Given the description of an element on the screen output the (x, y) to click on. 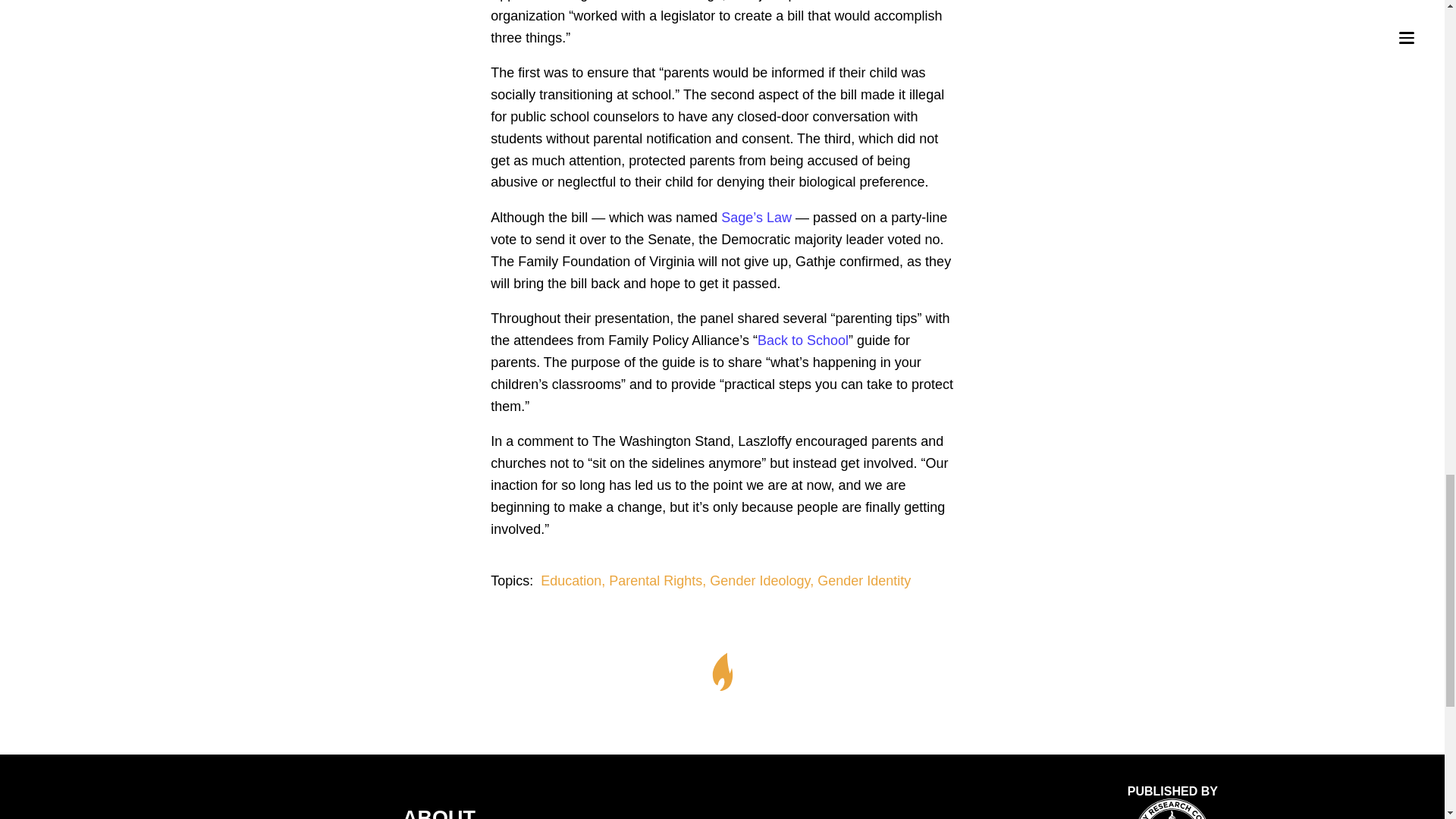
Parental Rights, (659, 580)
Education, (574, 580)
Gender Identity (863, 580)
Back to School (802, 340)
Gender Ideology, (763, 580)
